Given the description of an element on the screen output the (x, y) to click on. 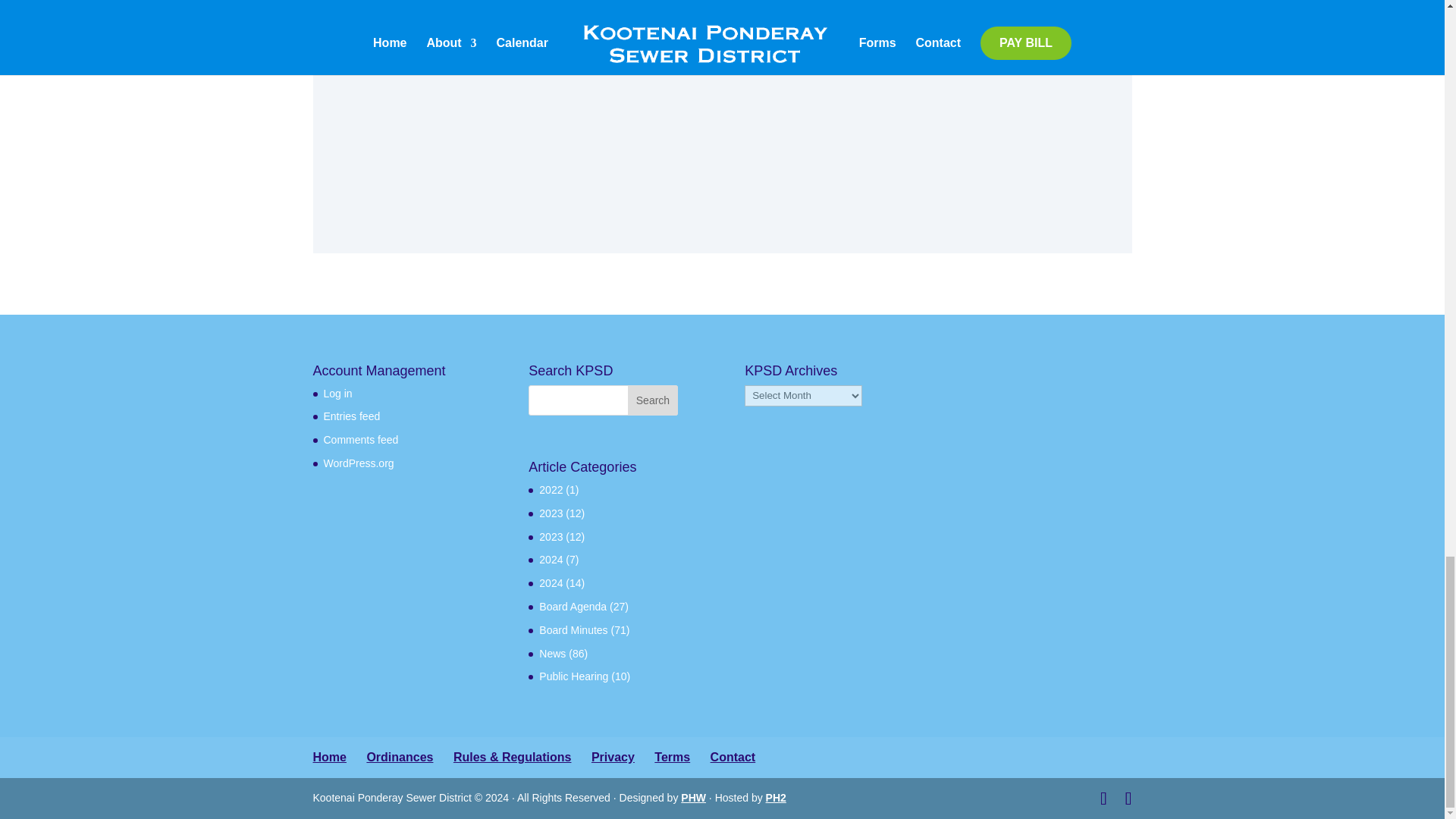
Search (652, 399)
Comment Form (721, 84)
